Given the description of an element on the screen output the (x, y) to click on. 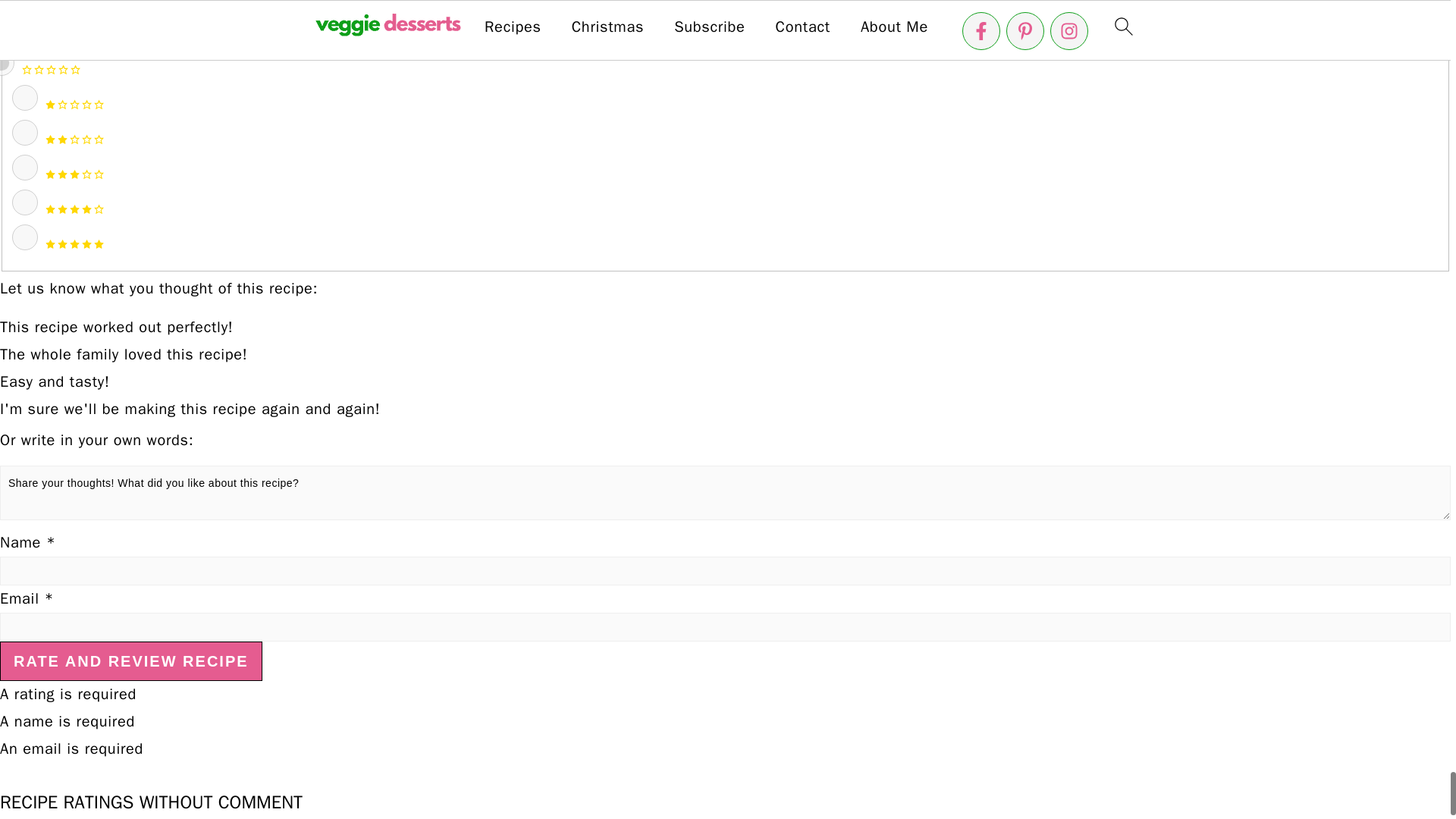
3 (24, 167)
2 (24, 132)
4 (24, 202)
5 (24, 237)
1 (24, 97)
